Given the description of an element on the screen output the (x, y) to click on. 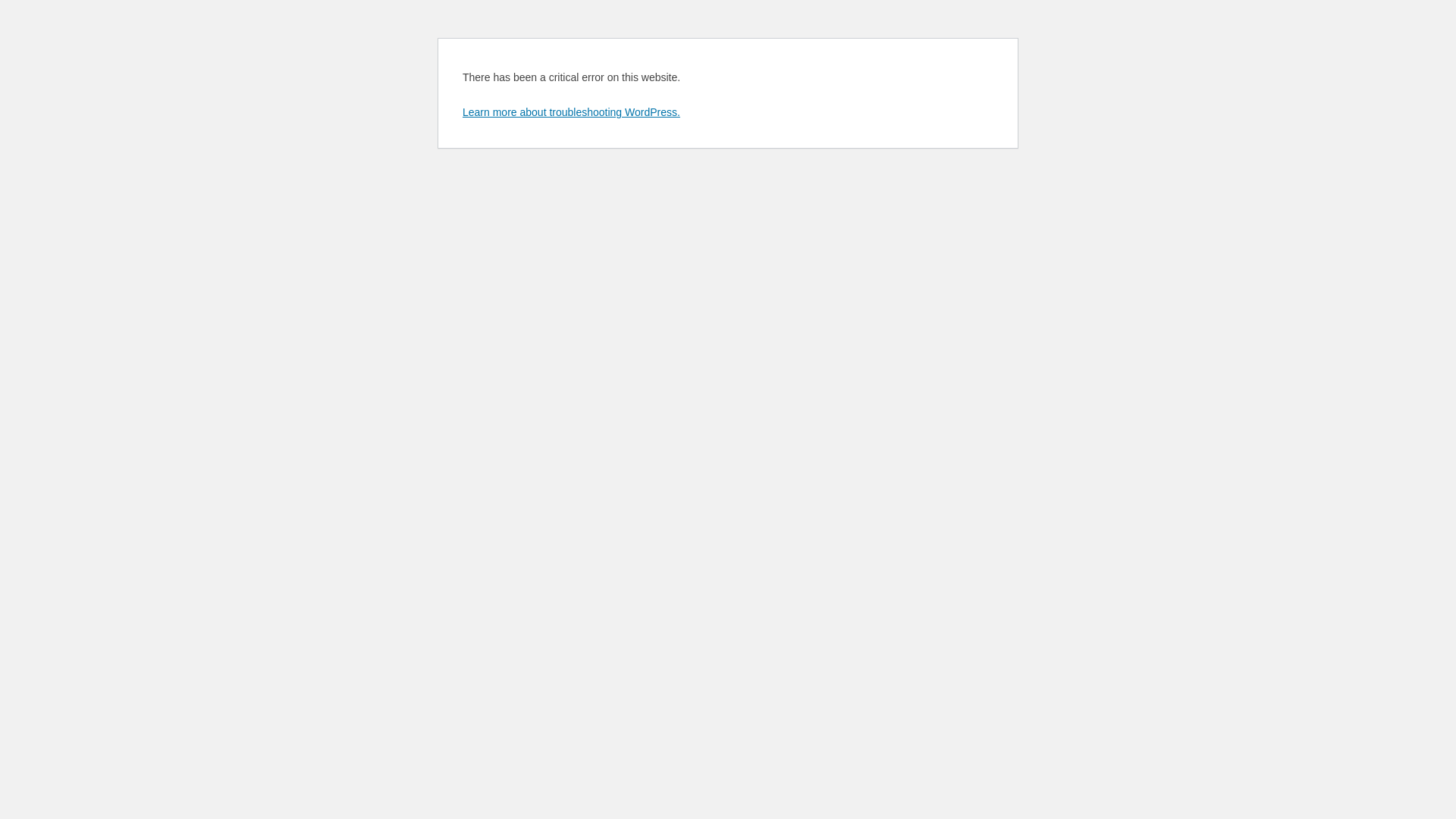
Learn more about troubleshooting WordPress. Element type: text (571, 112)
